Given the description of an element on the screen output the (x, y) to click on. 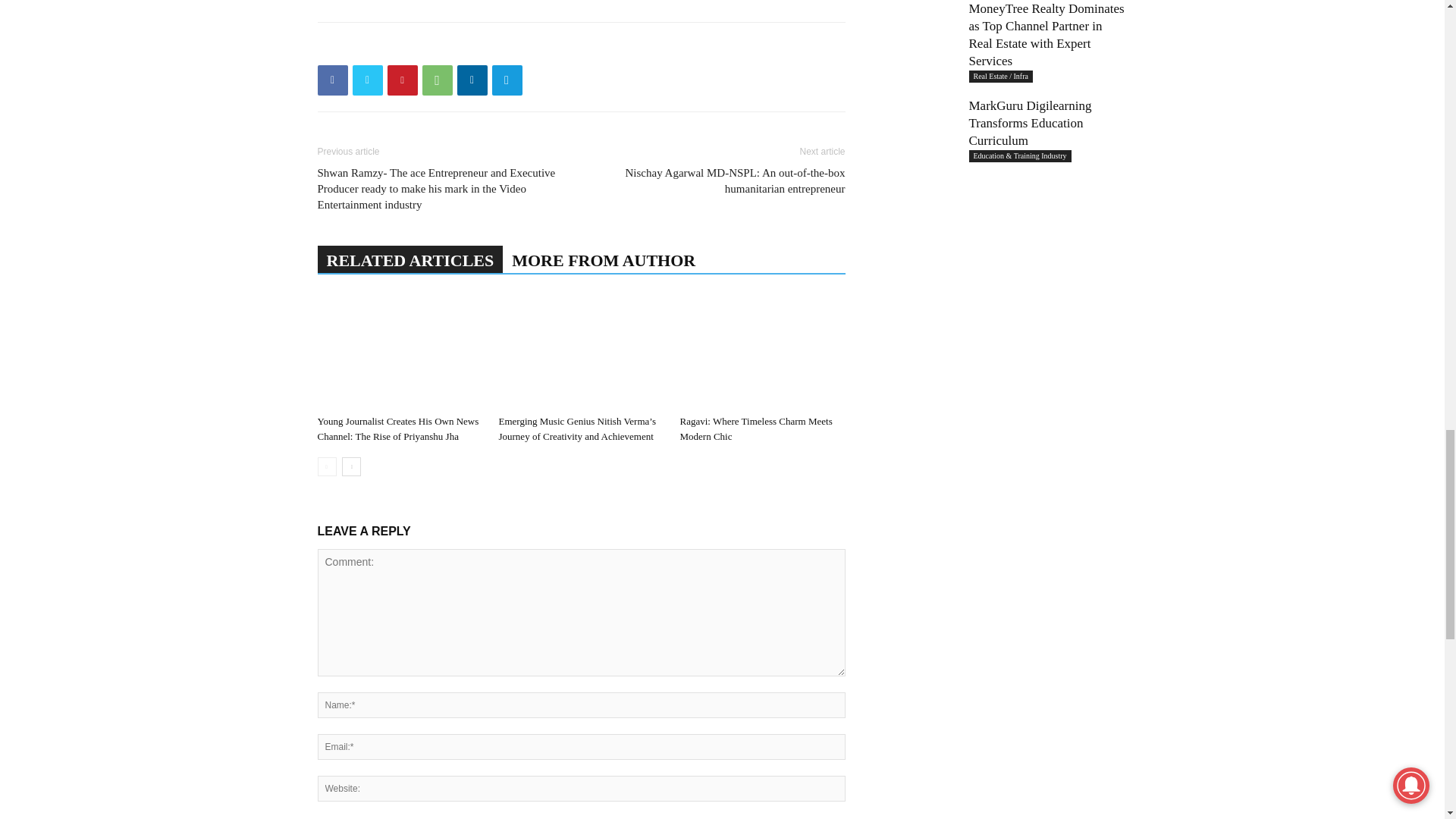
bottomFacebookLike (430, 46)
